Given the description of an element on the screen output the (x, y) to click on. 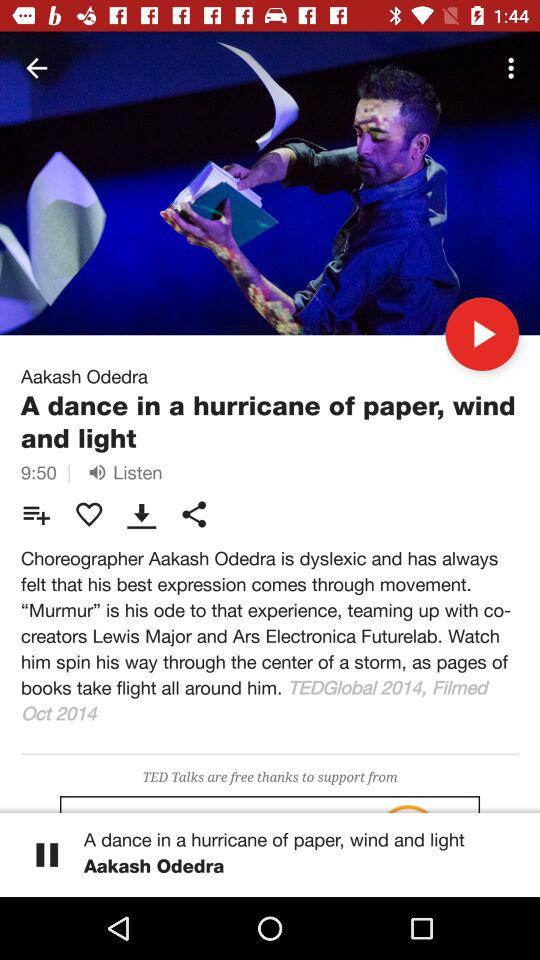
click on play (482, 333)
select the icon below 950 (36, 514)
go to more option from right top (514, 68)
click the pause option beside aakash odedra (47, 854)
